Given the description of an element on the screen output the (x, y) to click on. 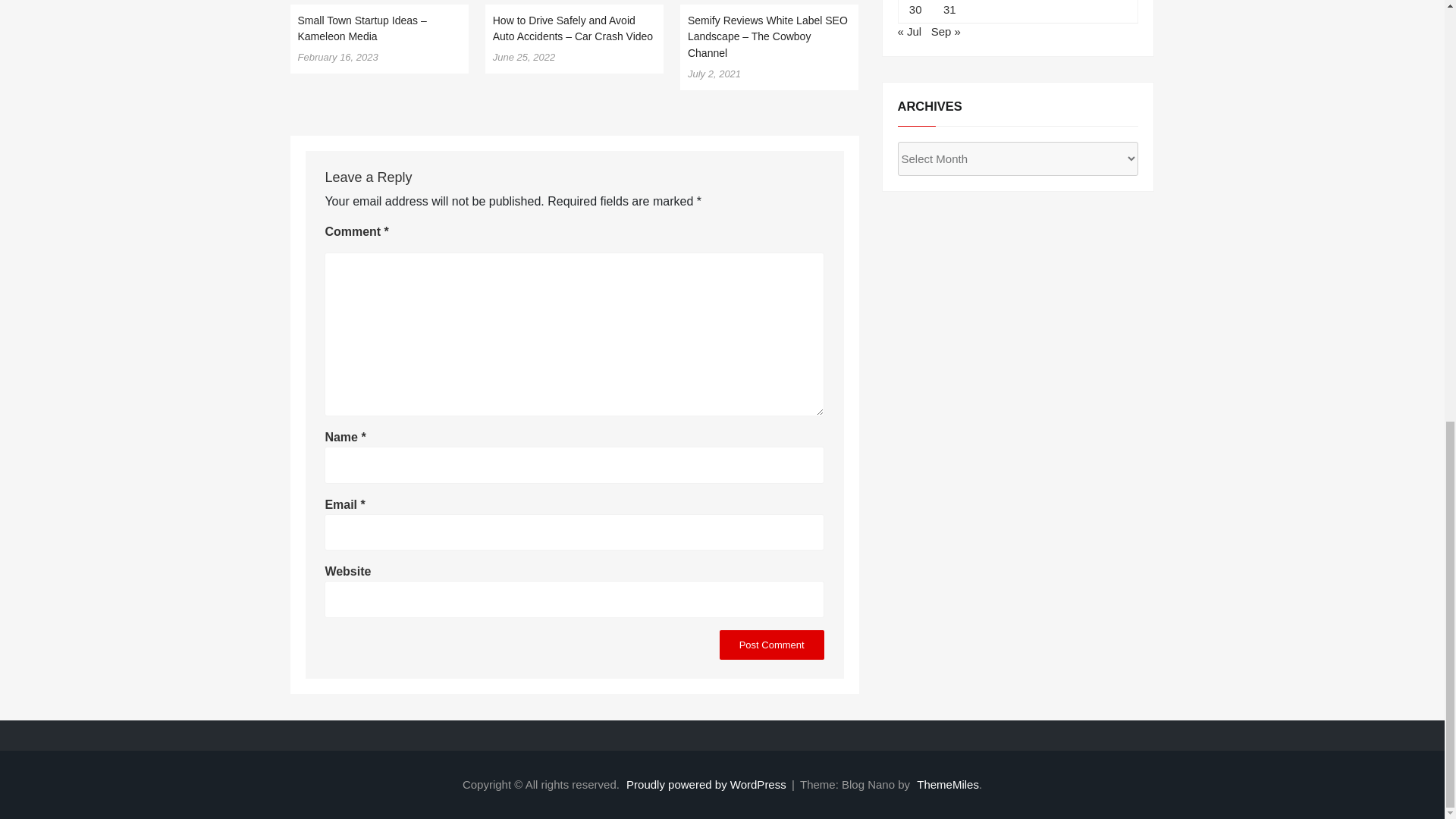
Post Comment (771, 644)
Post Comment (771, 644)
